Given the description of an element on the screen output the (x, y) to click on. 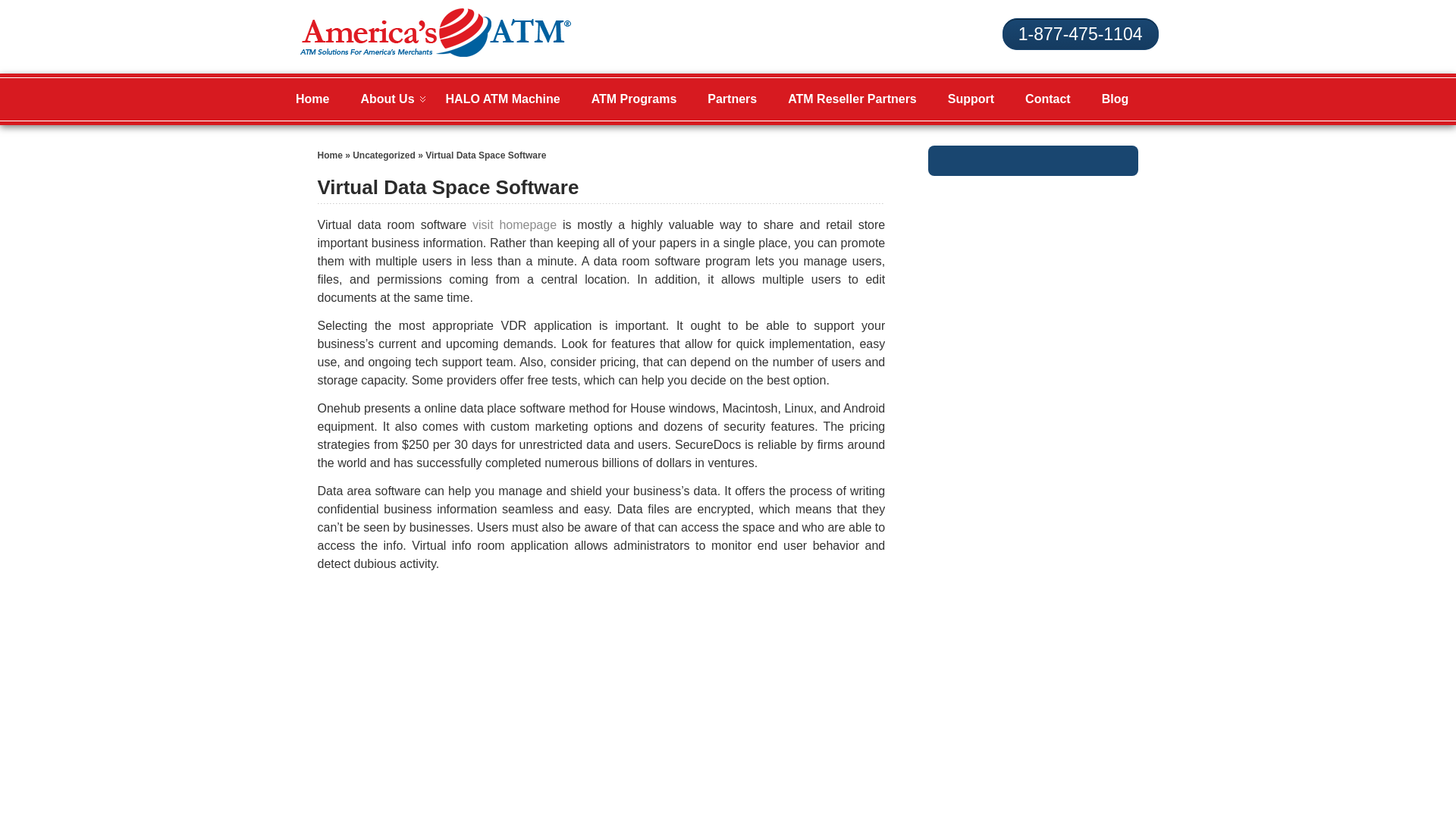
Partners (732, 98)
About Us (387, 98)
Uncategorized (383, 154)
Contact (1048, 98)
ATM Reseller Partners (852, 98)
Home (329, 154)
HALO ATM Machine (502, 98)
Support (971, 98)
Home (312, 98)
ATM Programs (634, 98)
Blog (1115, 98)
1-877-475-1104 (1080, 33)
visit homepage (513, 224)
